Given the description of an element on the screen output the (x, y) to click on. 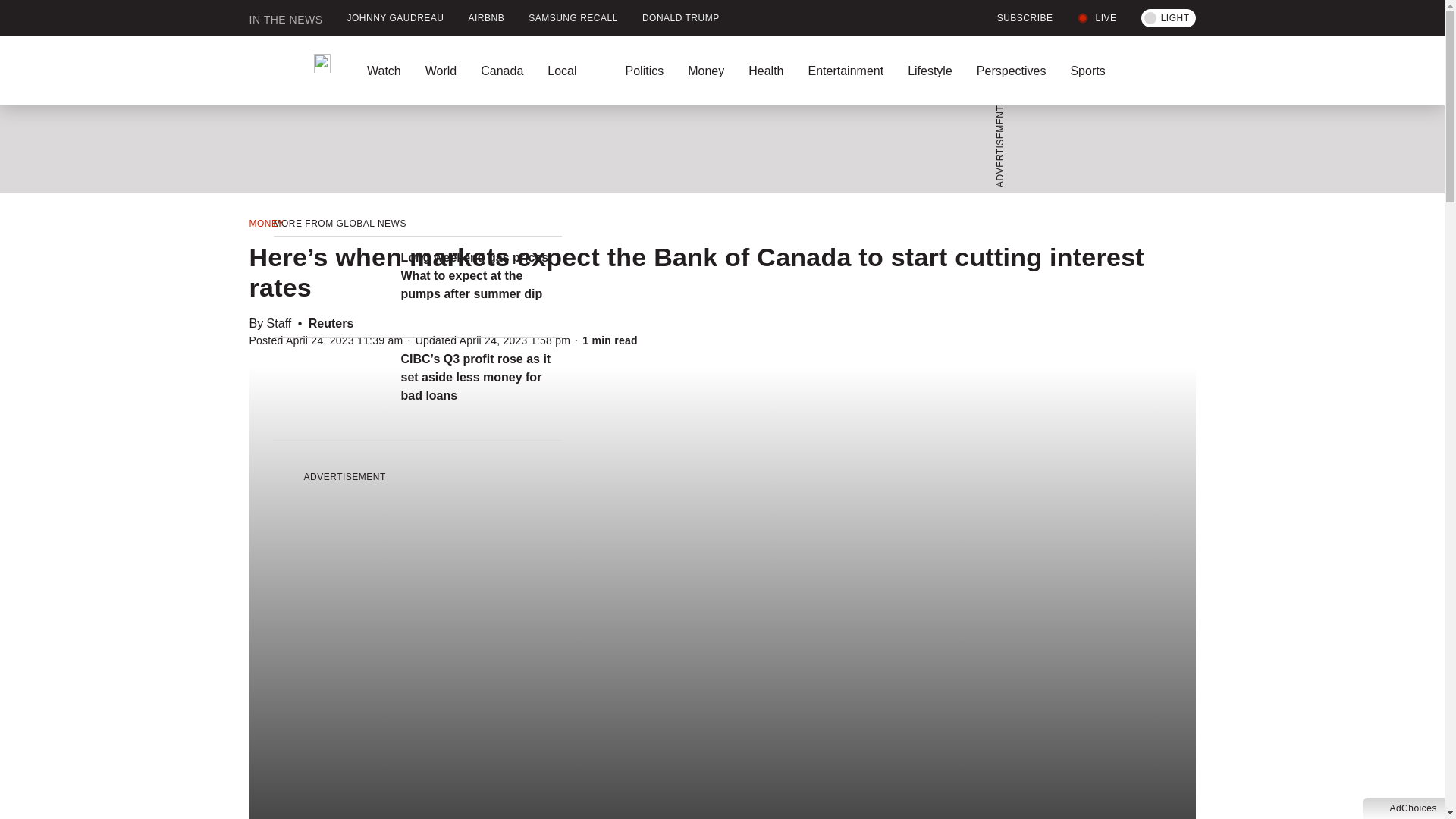
Local (573, 70)
SAMSUNG RECALL (573, 18)
LIVE (1096, 18)
Lifestyle (929, 70)
JOHNNY GAUDREAU (395, 18)
SUBSCRIBE (1015, 18)
GlobalNews home (289, 70)
Politics (643, 70)
AIRBNB (486, 18)
